Given the description of an element on the screen output the (x, y) to click on. 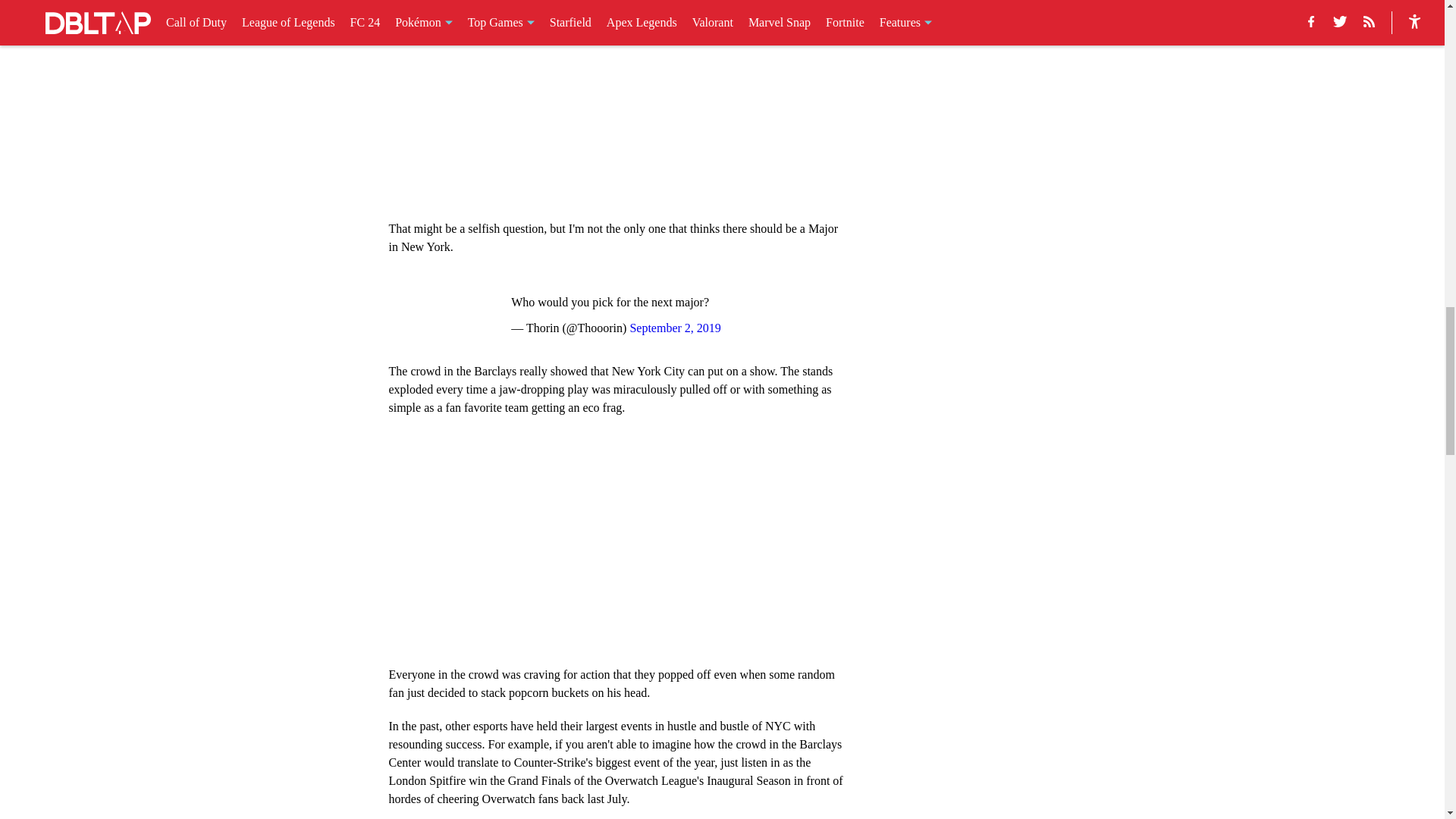
September 2, 2019 (674, 327)
